Given the description of an element on the screen output the (x, y) to click on. 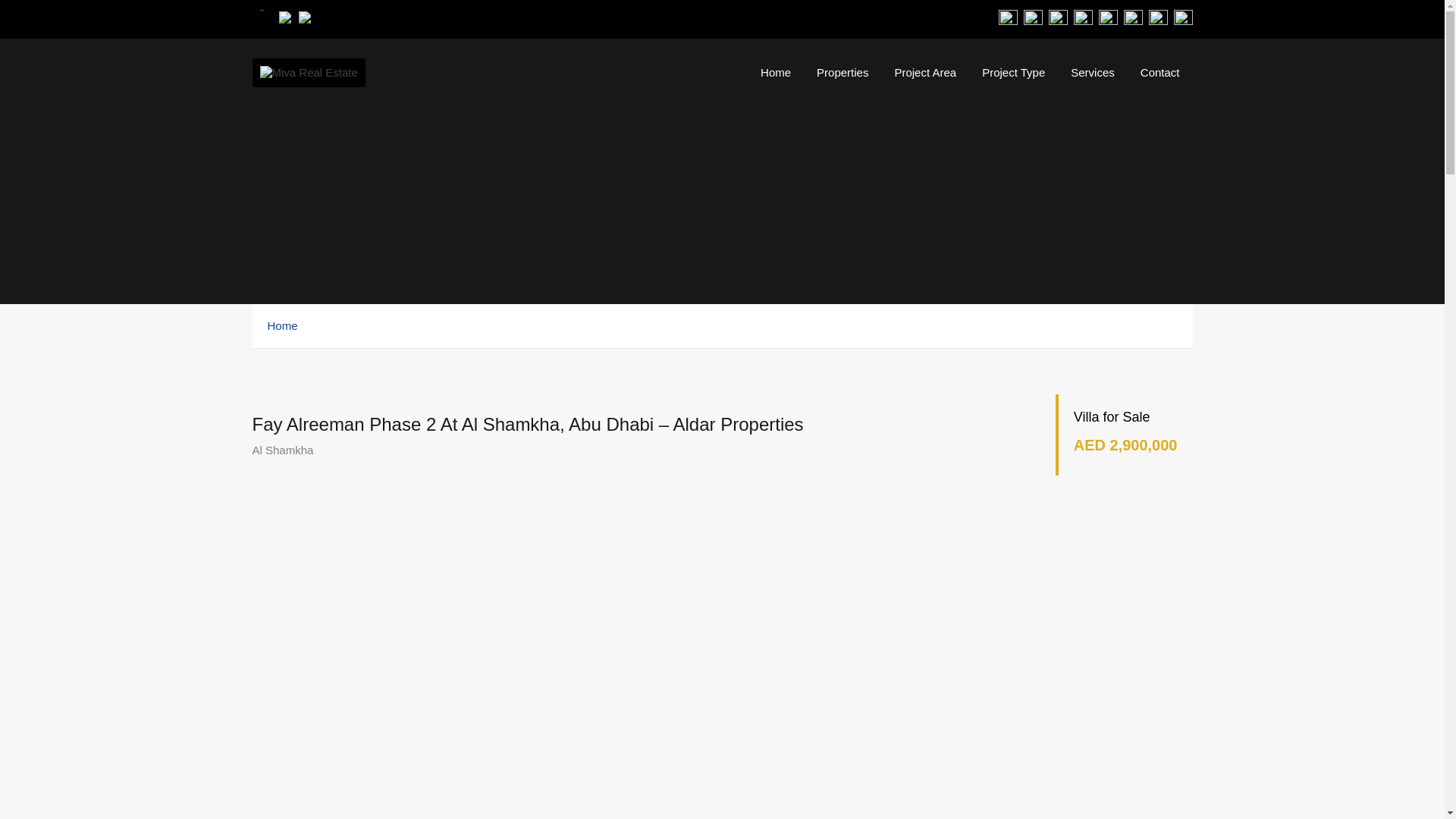
Miva Real Estate (308, 79)
